Given the description of an element on the screen output the (x, y) to click on. 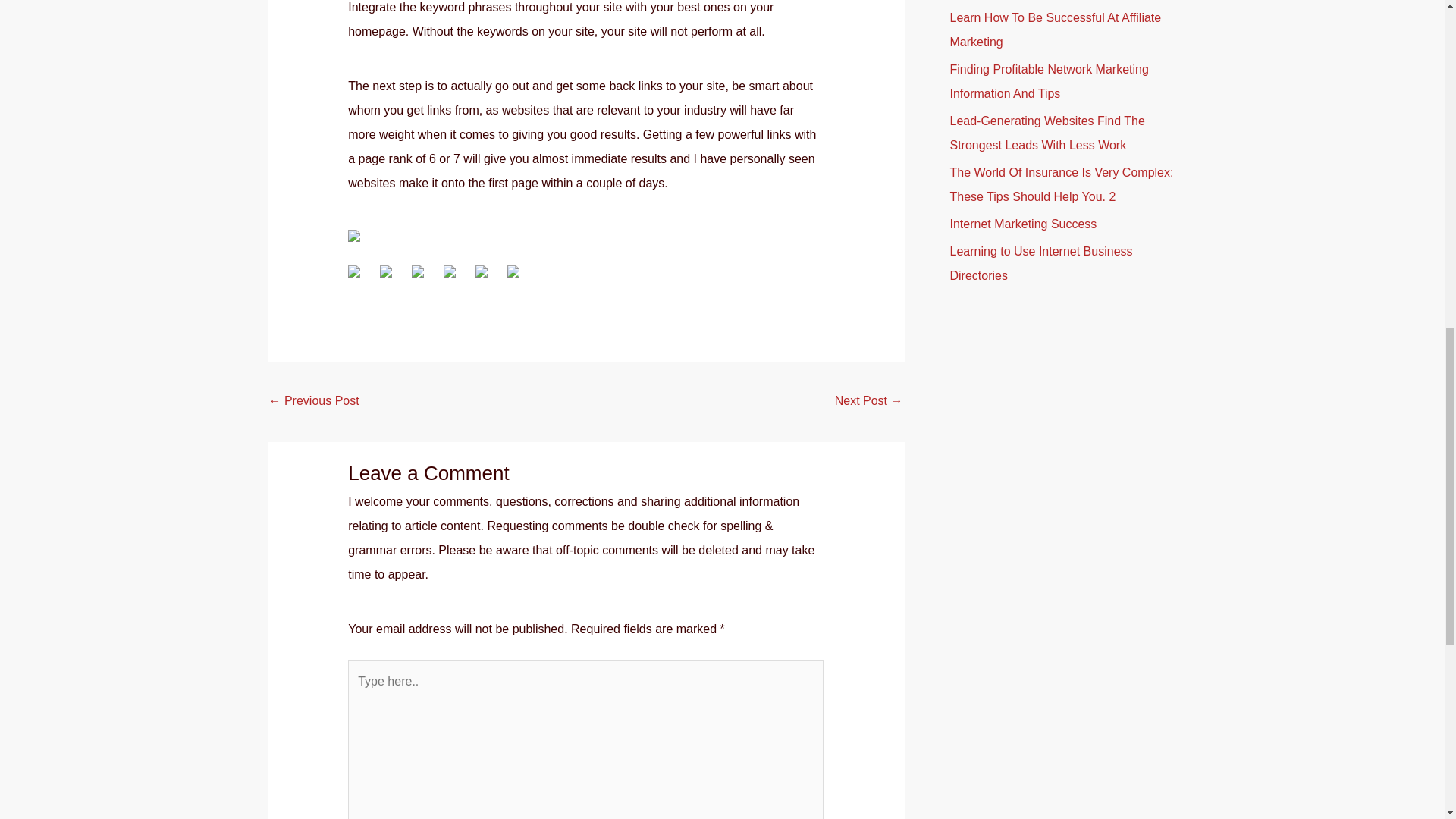
Share on Twitter (392, 277)
Pin it with Pinterest (455, 277)
Learn How To Be Successful At Affiliate Marketing (1054, 29)
Share on Linkedin (487, 277)
Share on Reddit (423, 277)
Finding Profitable Network Marketing Information And Tips (1048, 81)
Share on Facebook (359, 277)
Subscribe to our RSS Feed (359, 241)
